Given the description of an element on the screen output the (x, y) to click on. 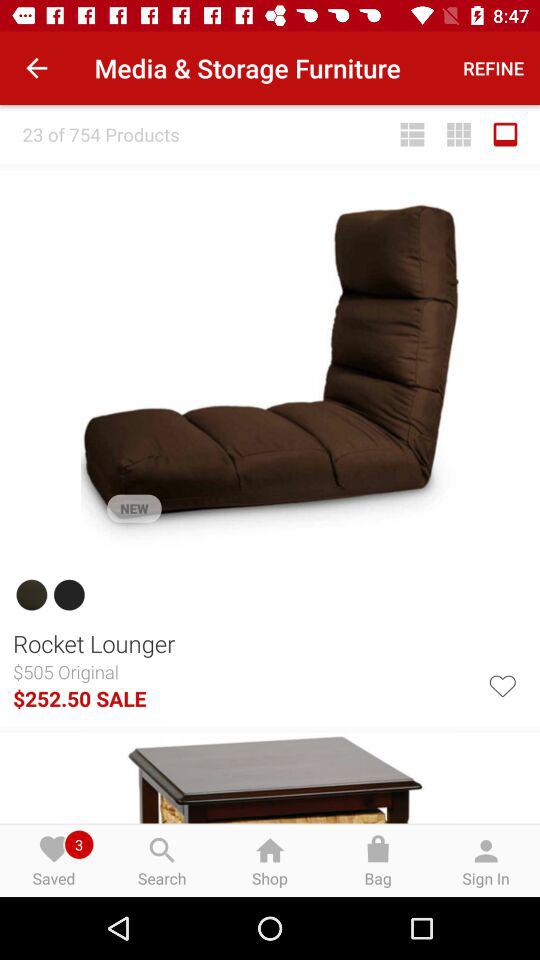
press icon to the right of 23 of 754 (412, 134)
